Given the description of an element on the screen output the (x, y) to click on. 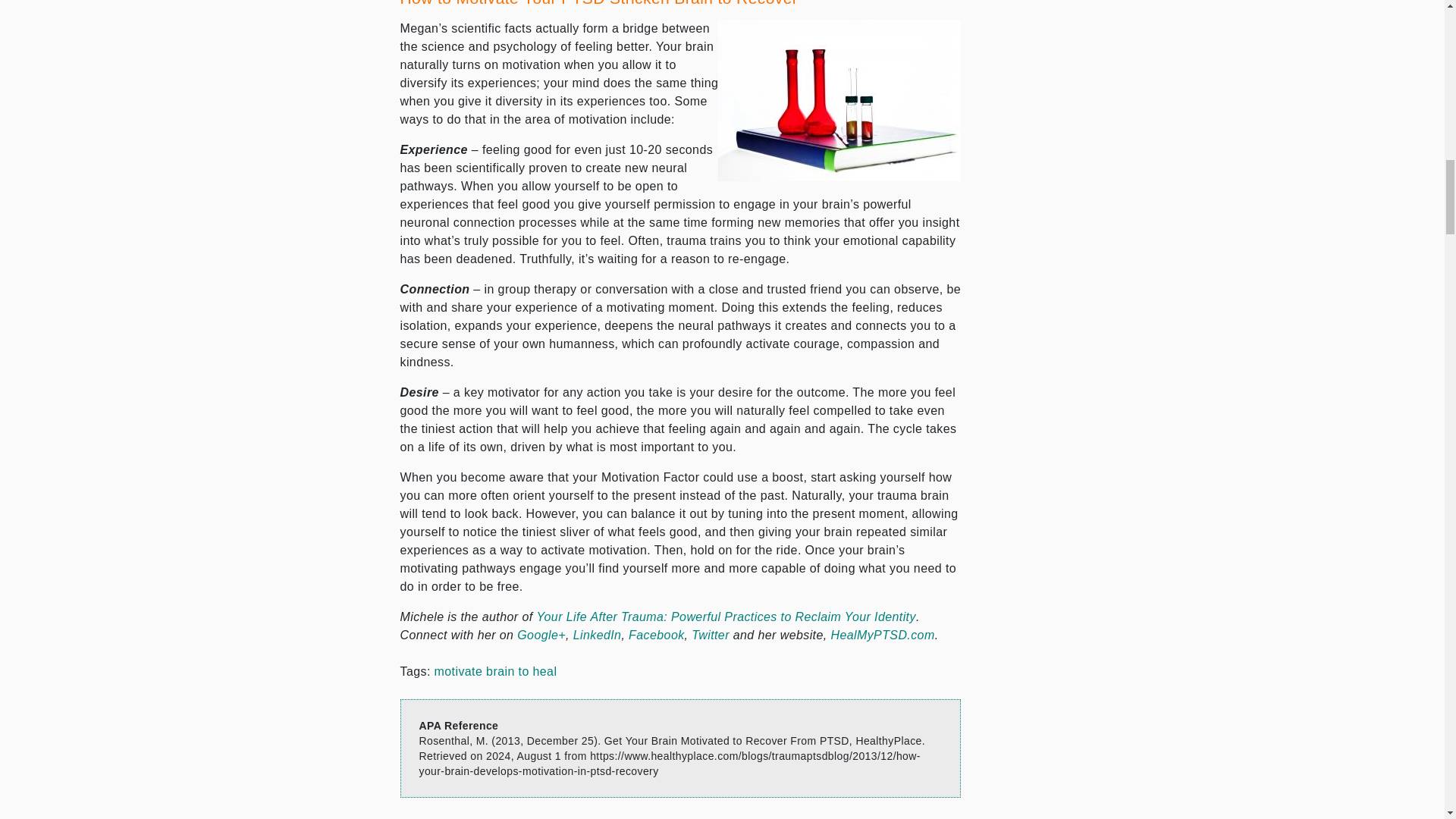
Get Your Brain Motivated to Recover From PTSD (838, 99)
your life after trauma by michele rosenthal (725, 616)
